Given the description of an element on the screen output the (x, y) to click on. 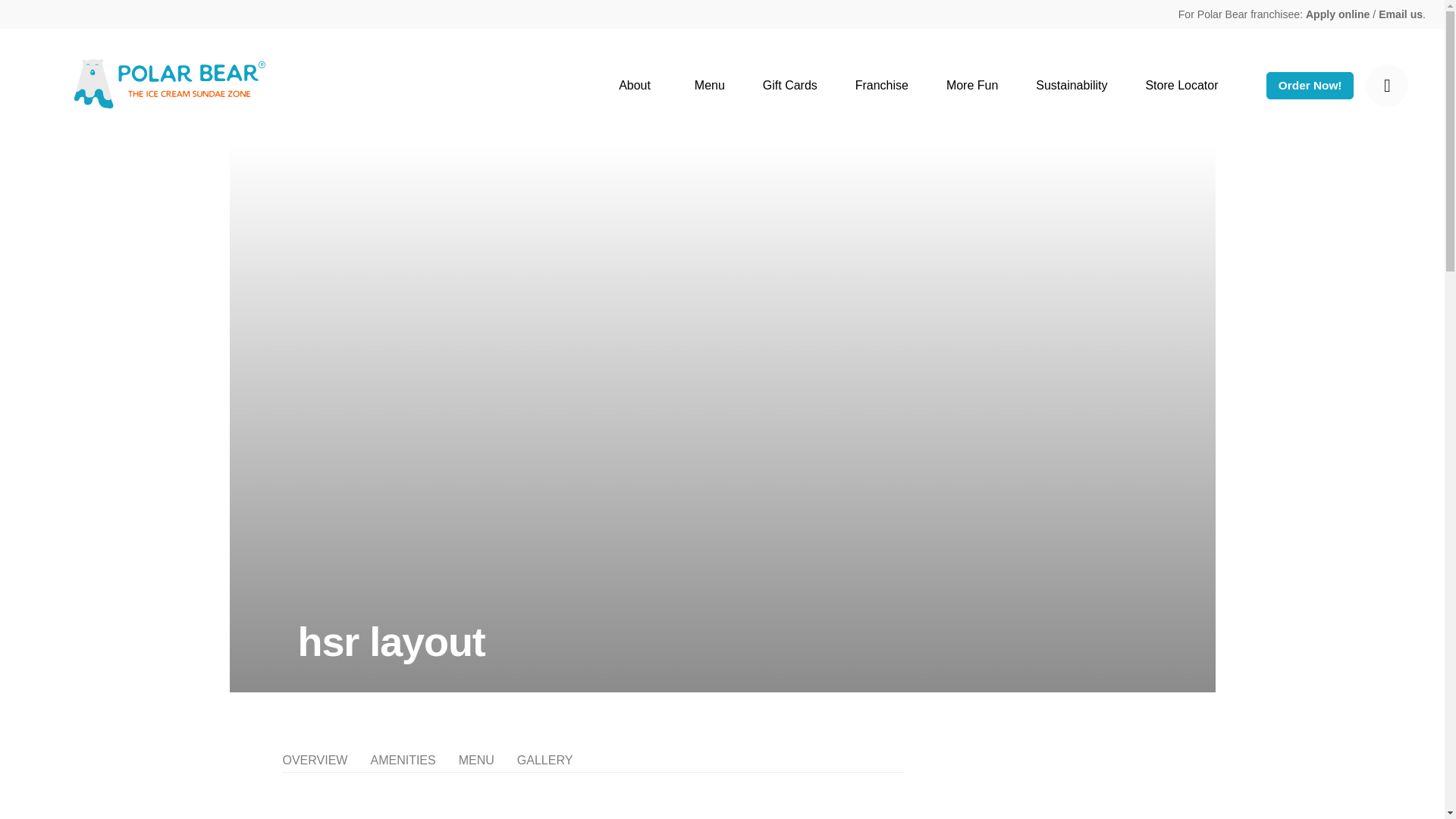
AMENITIES (402, 760)
Sustainability (1070, 85)
Order Now! (1310, 85)
Email us (1400, 14)
Franchise (881, 85)
OVERVIEW (314, 760)
GALLERY (544, 760)
Menu (709, 85)
More Fun (971, 85)
Store Locator (1180, 85)
